Given the description of an element on the screen output the (x, y) to click on. 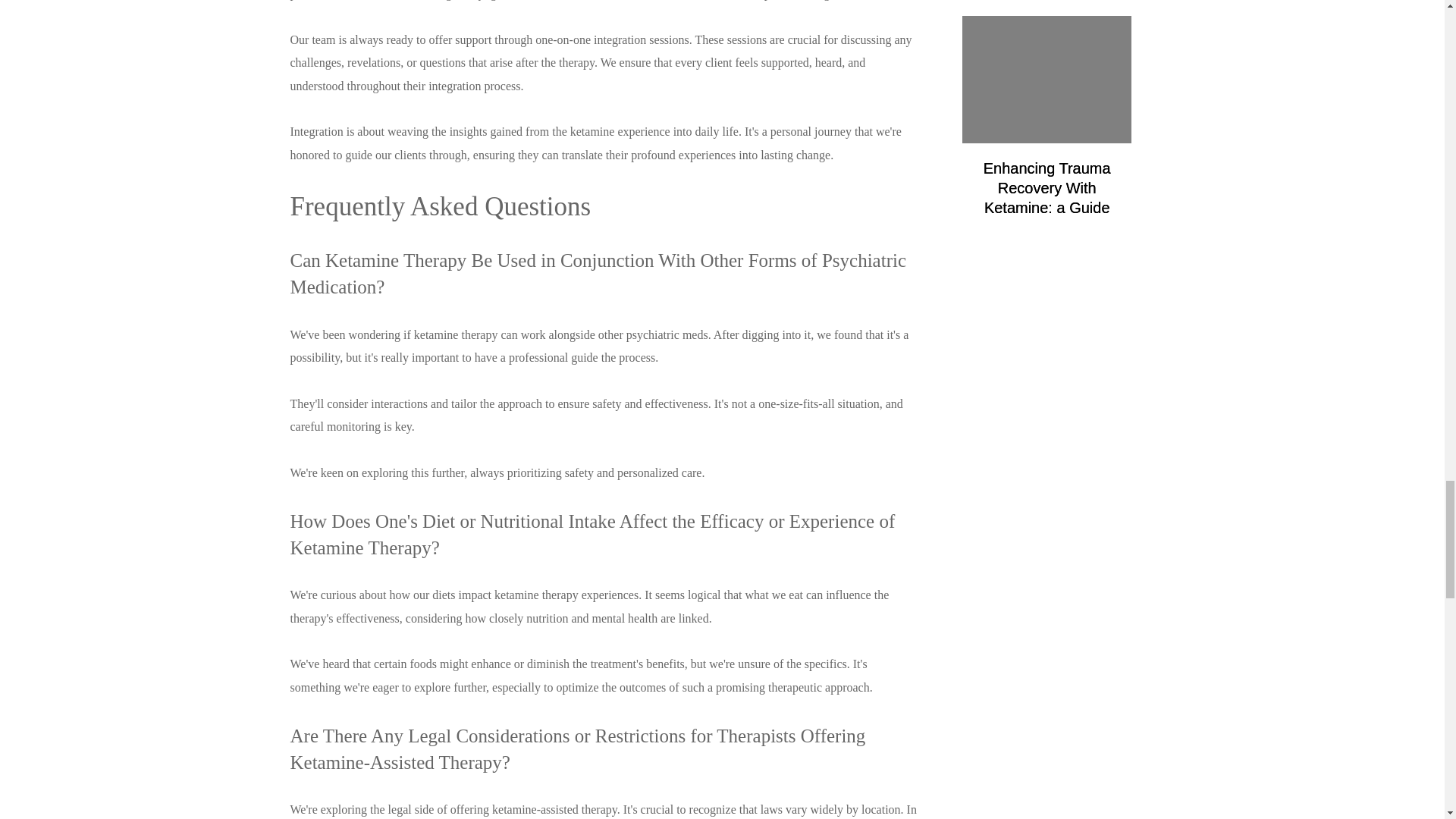
Integrating Ketamine for Somatic Therapy: A How-To Guide 3 (1047, 79)
